Given the description of an element on the screen output the (x, y) to click on. 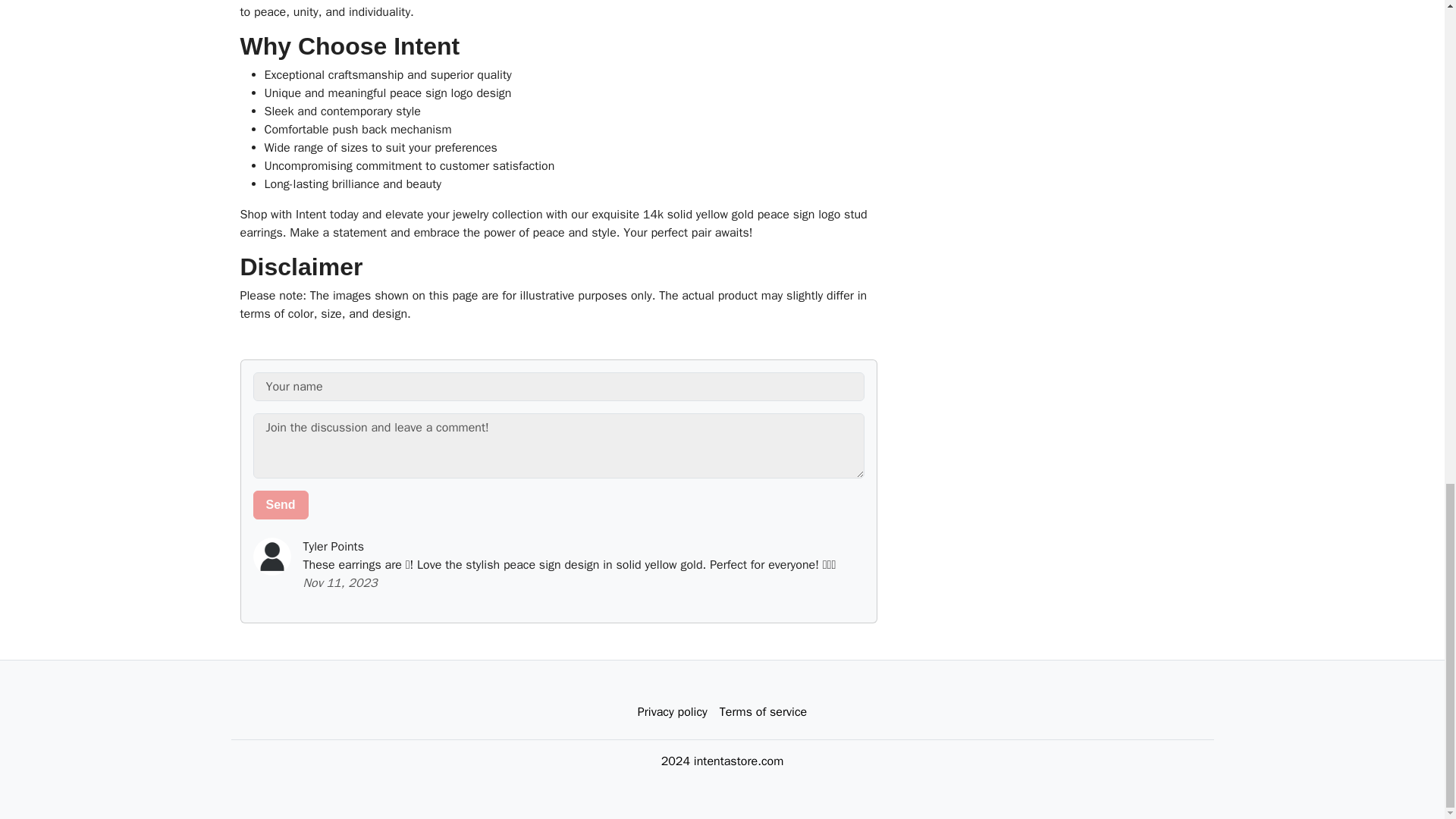
Privacy policy (672, 711)
Send (280, 504)
Terms of service (762, 711)
Send (280, 504)
